Given the description of an element on the screen output the (x, y) to click on. 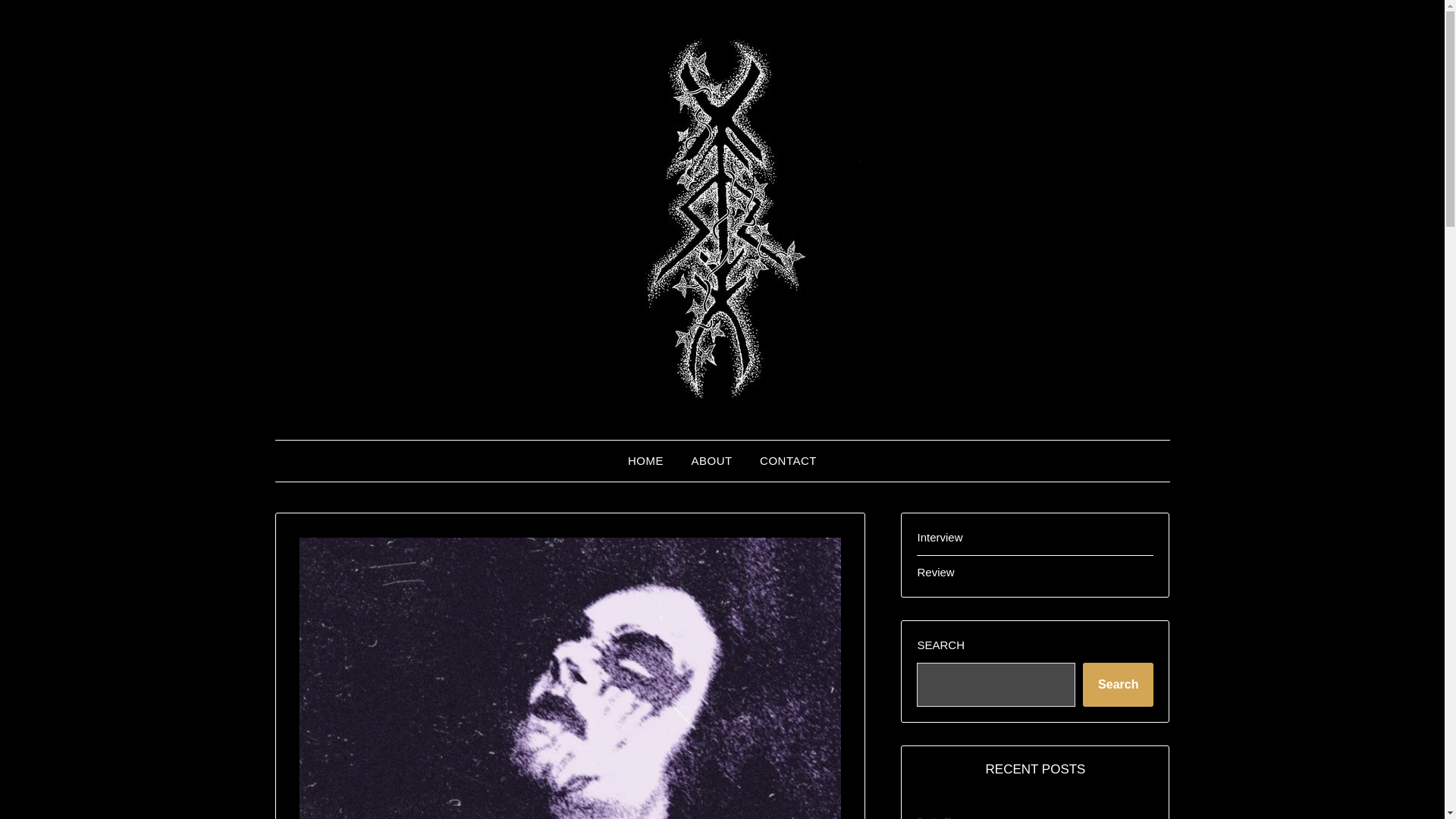
HOME (645, 460)
Review (935, 571)
CONTACT (788, 460)
Interview (939, 536)
Search (1118, 684)
ABOUT (711, 460)
